Given the description of an element on the screen output the (x, y) to click on. 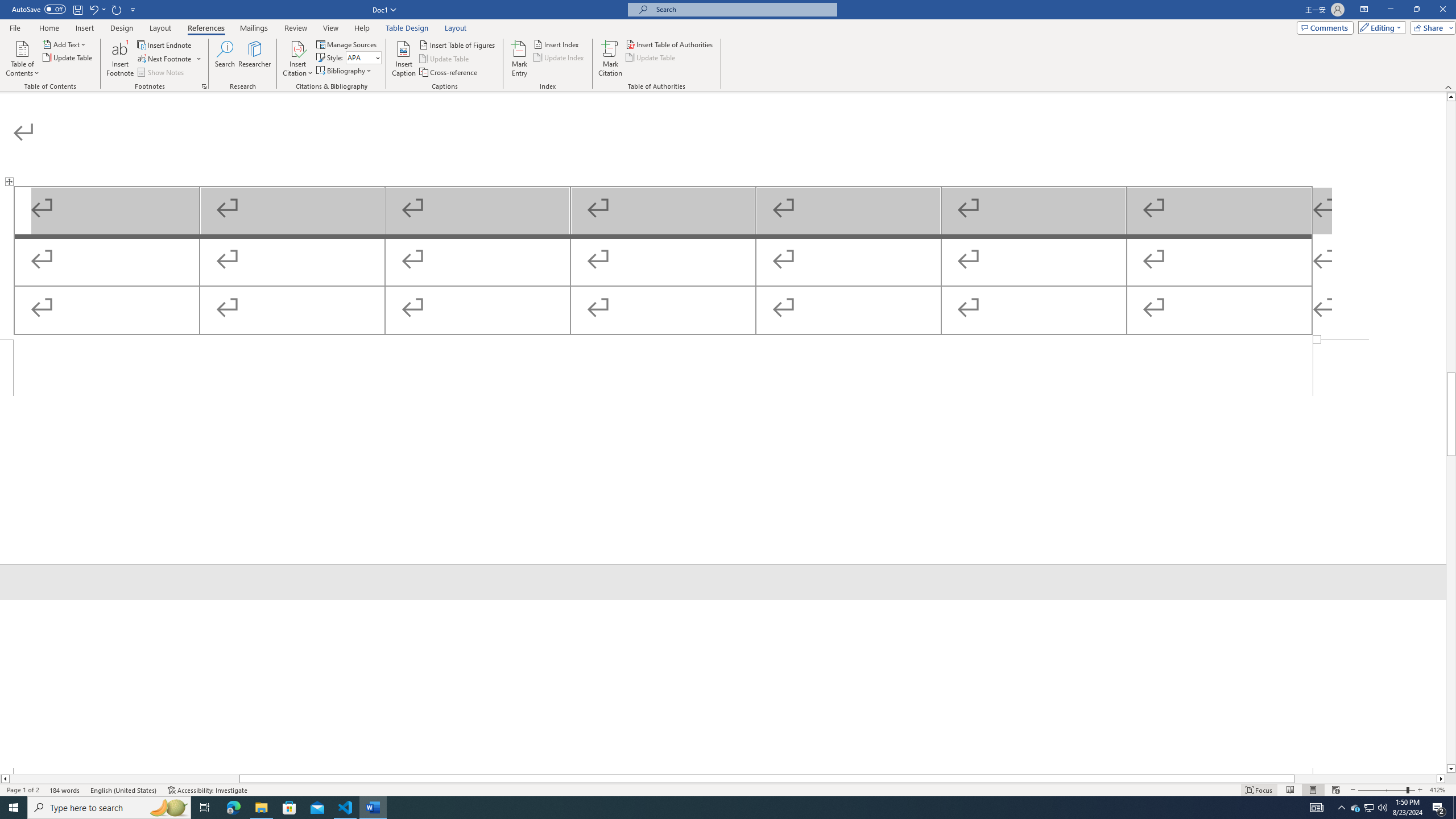
Next Footnote (165, 58)
Table of Contents (22, 58)
Column right (1441, 778)
Undo Outline Move Up (92, 9)
Repeat Doc Close (117, 9)
Add Text (65, 44)
Page Number Page 1 of 2 (22, 790)
Language English (United States) (123, 790)
